Given the description of an element on the screen output the (x, y) to click on. 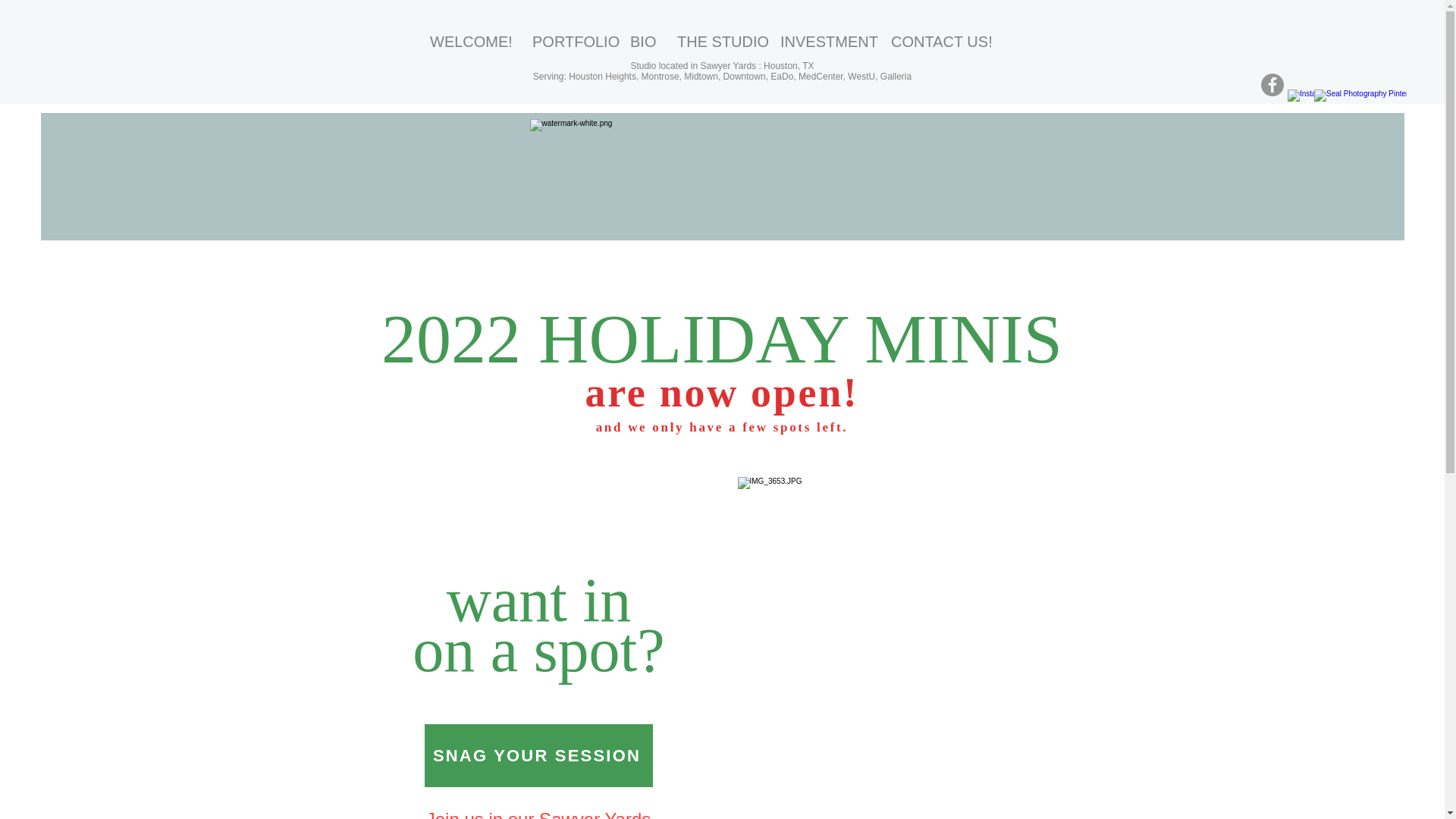
BIO (641, 41)
THE STUDIO (716, 41)
SNAG YOUR SESSION (538, 755)
WELCOME! (470, 41)
INVESTMENT (823, 41)
CONTACT US! (939, 41)
PORTFOLIO (569, 41)
